Given the description of an element on the screen output the (x, y) to click on. 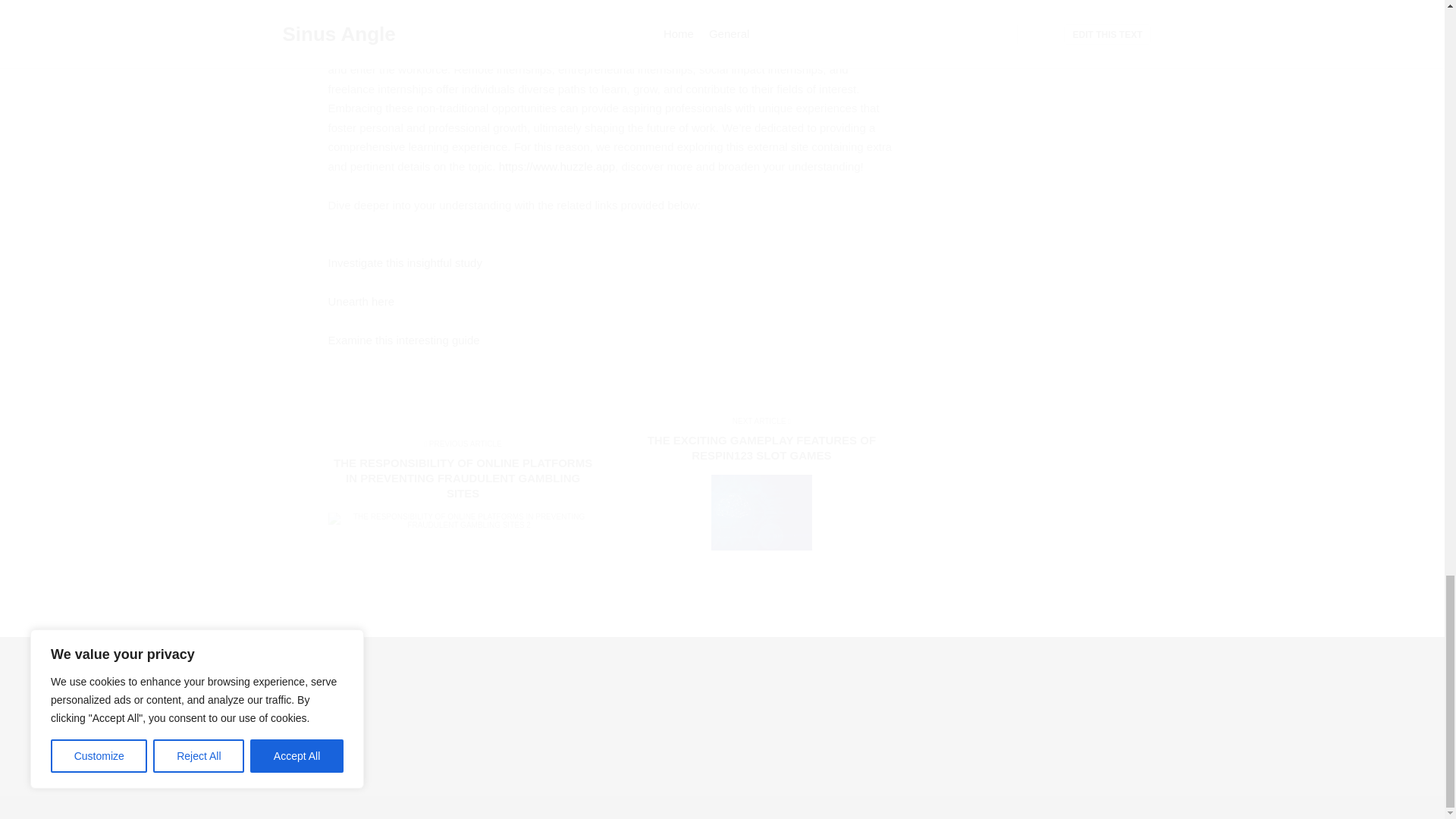
Investigate this insightful study (404, 262)
Unearth here (360, 300)
Examine this interesting guide (403, 339)
opportunities (545, 50)
